Given the description of an element on the screen output the (x, y) to click on. 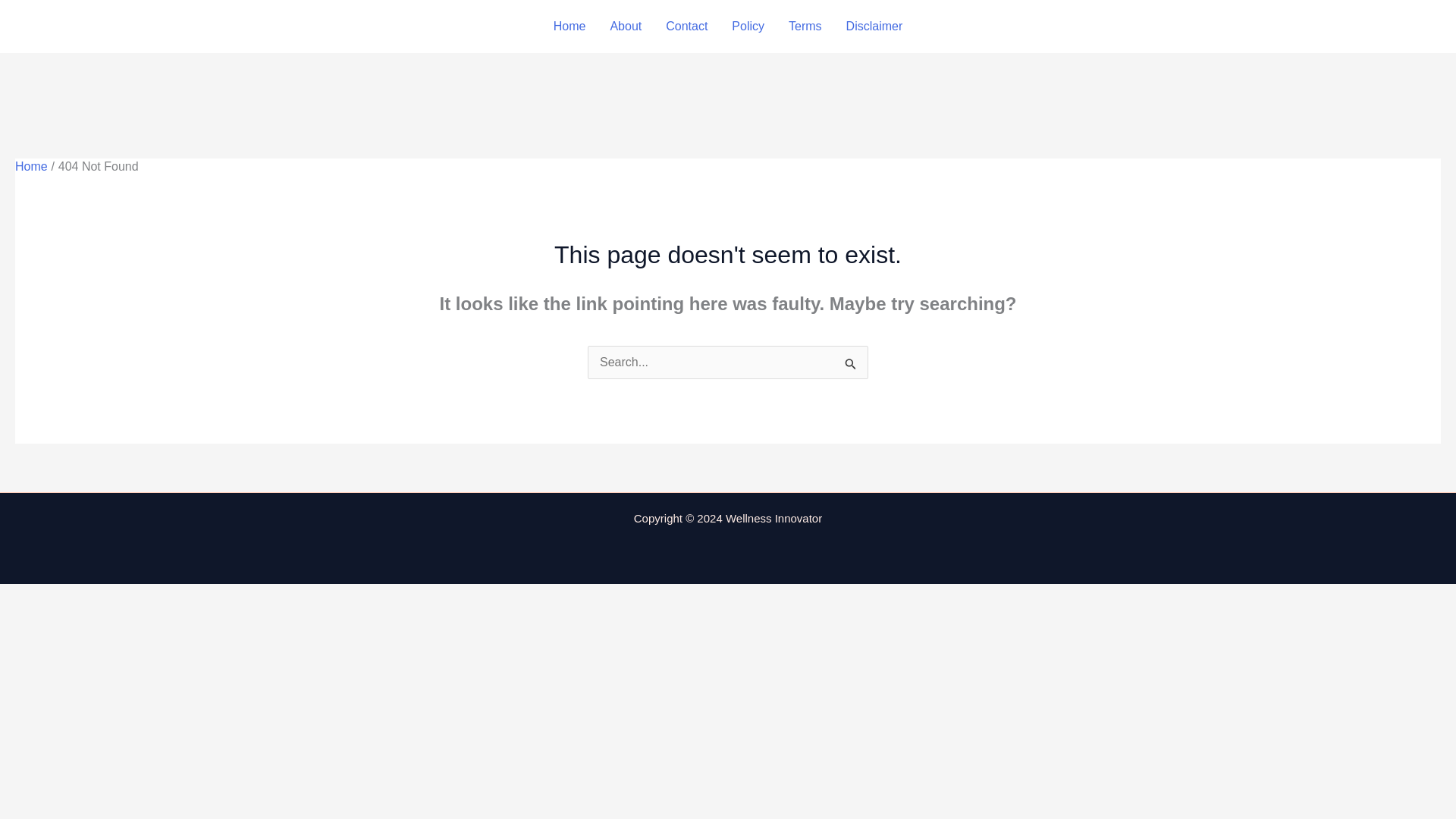
Policy (747, 26)
Home (31, 165)
About (624, 26)
Disclaimer (874, 26)
Contact (686, 26)
Home (569, 26)
Terms (805, 26)
